Given the description of an element on the screen output the (x, y) to click on. 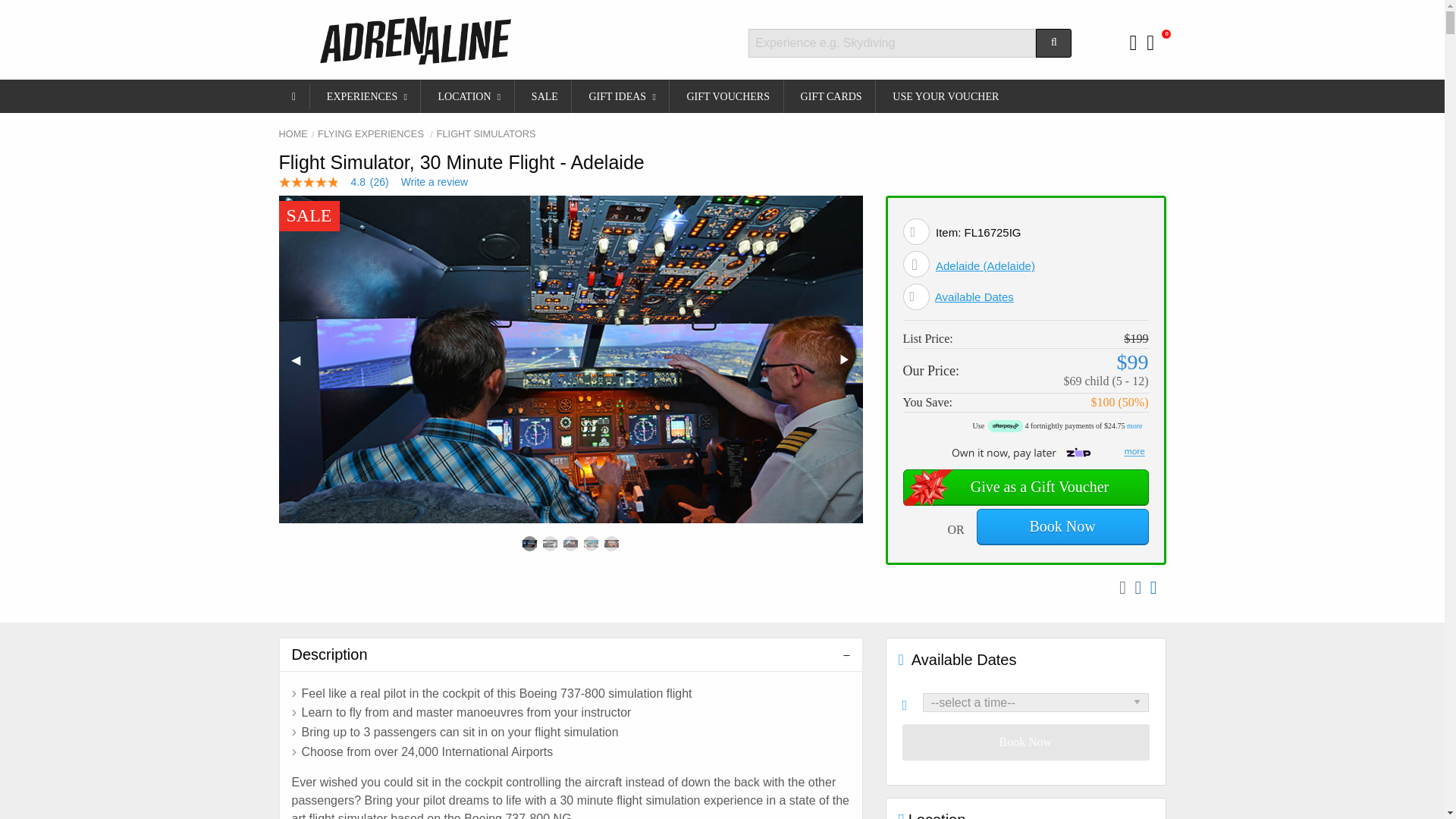
Book Now (1026, 741)
Dates (916, 296)
Available Dates (973, 296)
Give as a Gift Voucher (1025, 487)
SEARCH (1053, 42)
Item Number (916, 231)
EXPERIENCES (366, 96)
Book Now (1062, 526)
Prefered Time (912, 701)
Location (916, 263)
